Given the description of an element on the screen output the (x, y) to click on. 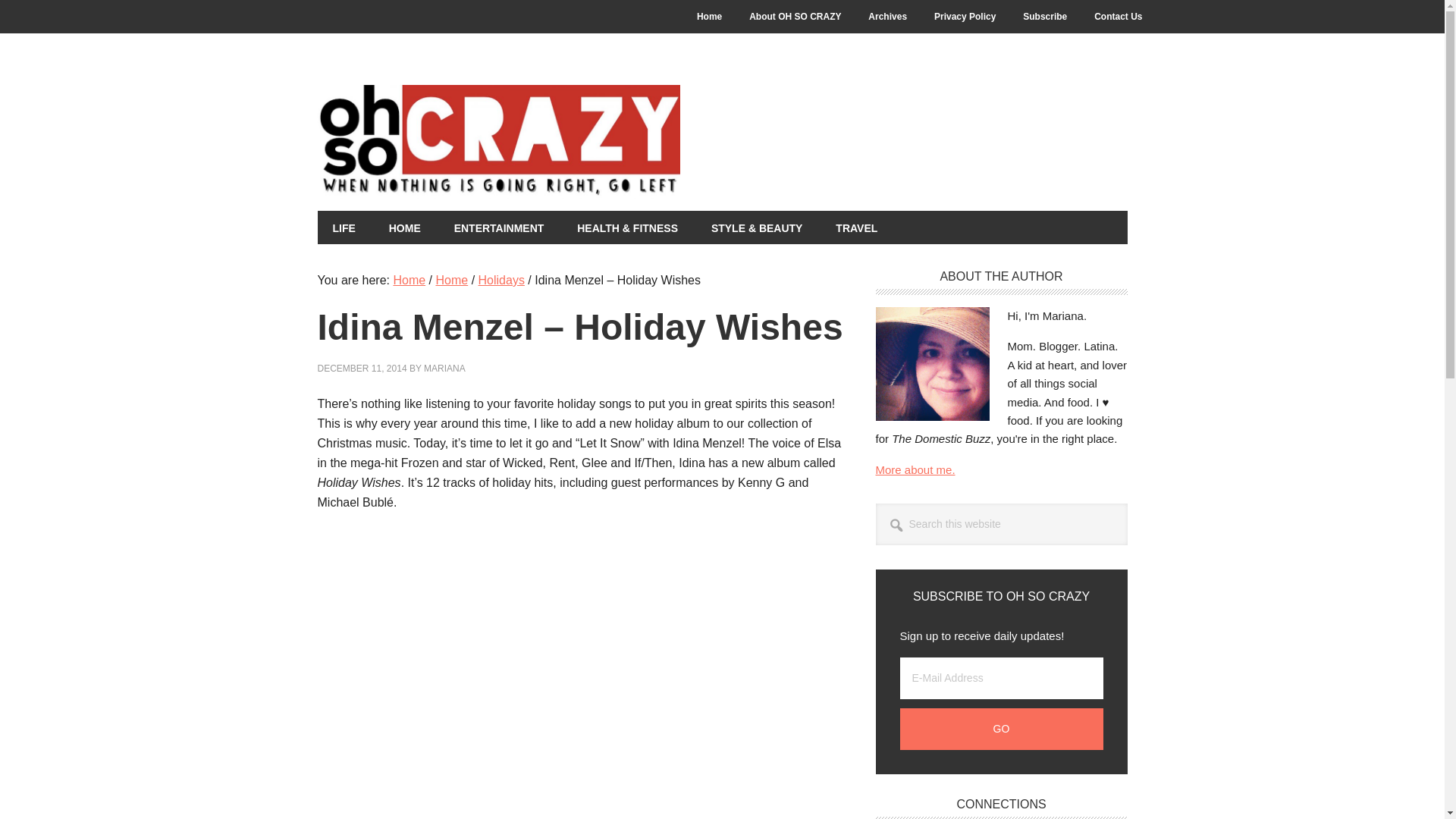
Home (708, 16)
Archives (887, 16)
LIFE (343, 227)
HOME (404, 227)
OH SO CRAZY (582, 142)
Go (1000, 729)
About OH SO CRAZY (794, 16)
Subscribe (1044, 16)
Contact Us (1117, 16)
Privacy Policy (964, 16)
